Given the description of an element on the screen output the (x, y) to click on. 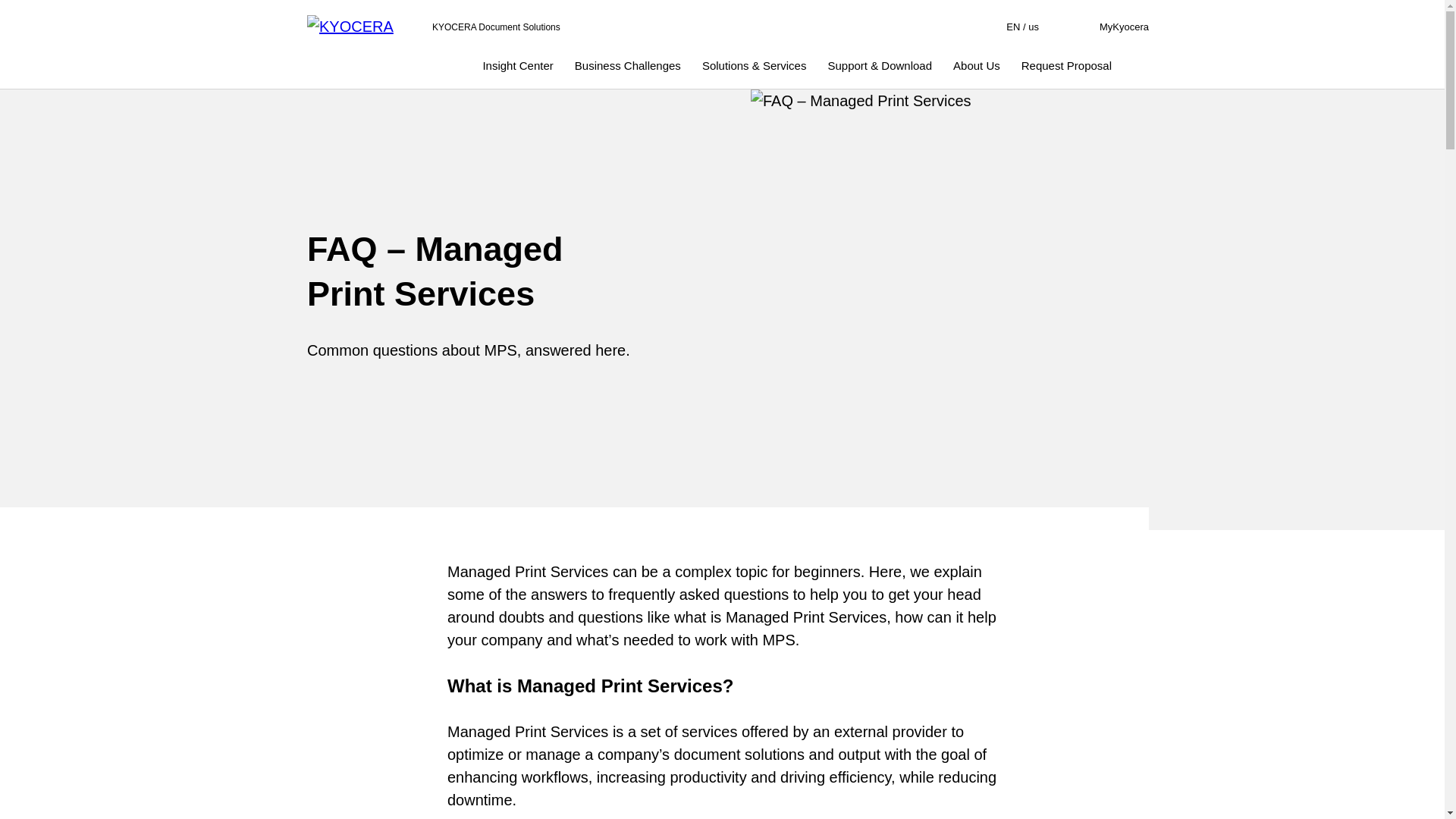
MyKyocera (1123, 27)
Insight Center (517, 65)
KYOCERA Logo (1013, 27)
Business Challenges (363, 27)
